Given the description of an element on the screen output the (x, y) to click on. 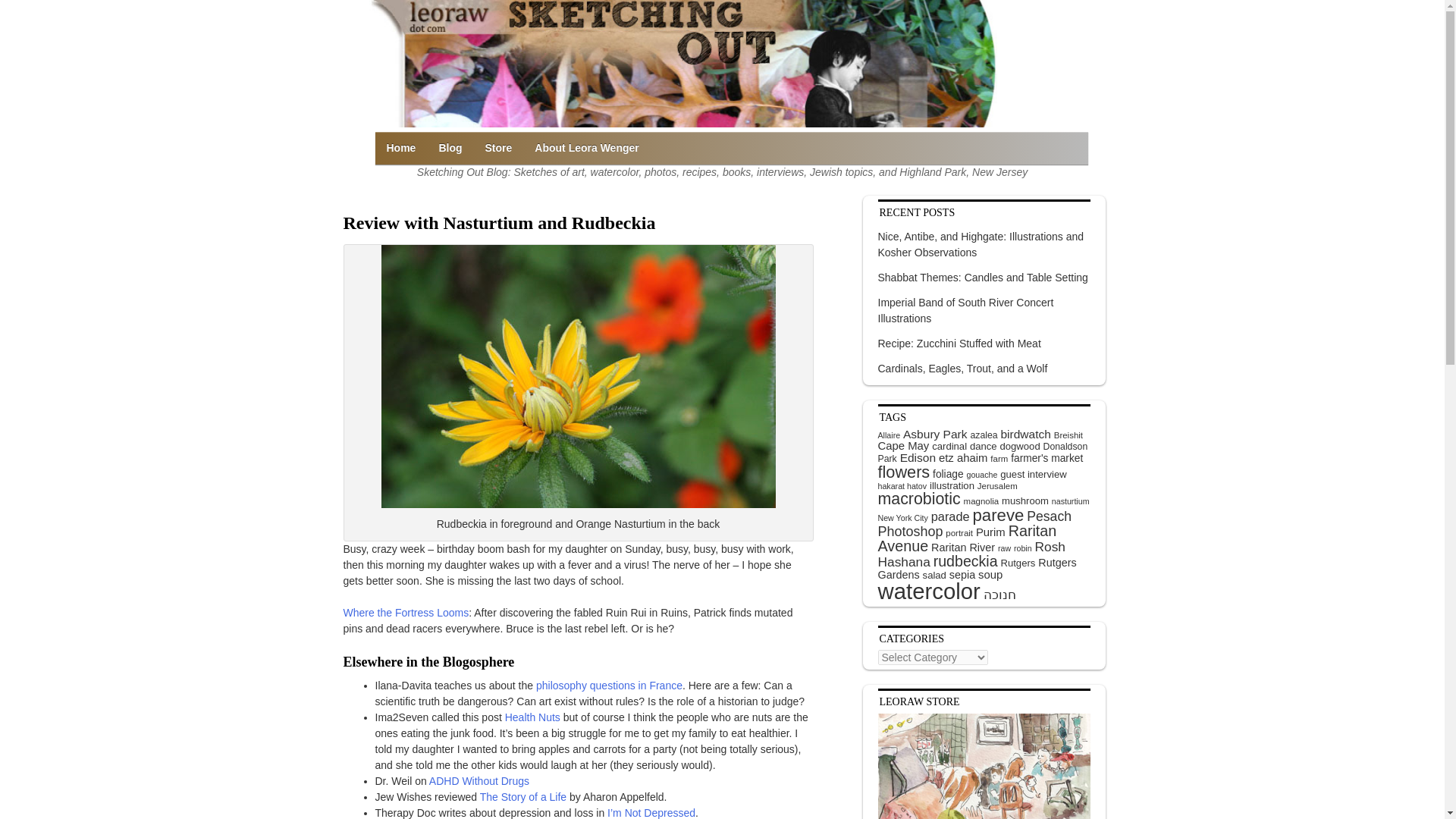
Where the Fortress Looms (405, 612)
Blog (449, 147)
birdwatch (1024, 434)
philosophy questions in France (608, 685)
Shabbat Themes: Candles and Table Setting (982, 277)
Breishit (1068, 435)
The Story of a Life (524, 797)
azalea (983, 435)
Asbury Park (935, 434)
Recipe: Zucchini Stuffed with Meat (959, 343)
Store (499, 147)
Imperial Band of South River Concert Illustrations (965, 310)
Home (400, 147)
Health Nuts (532, 717)
